Given the description of an element on the screen output the (x, y) to click on. 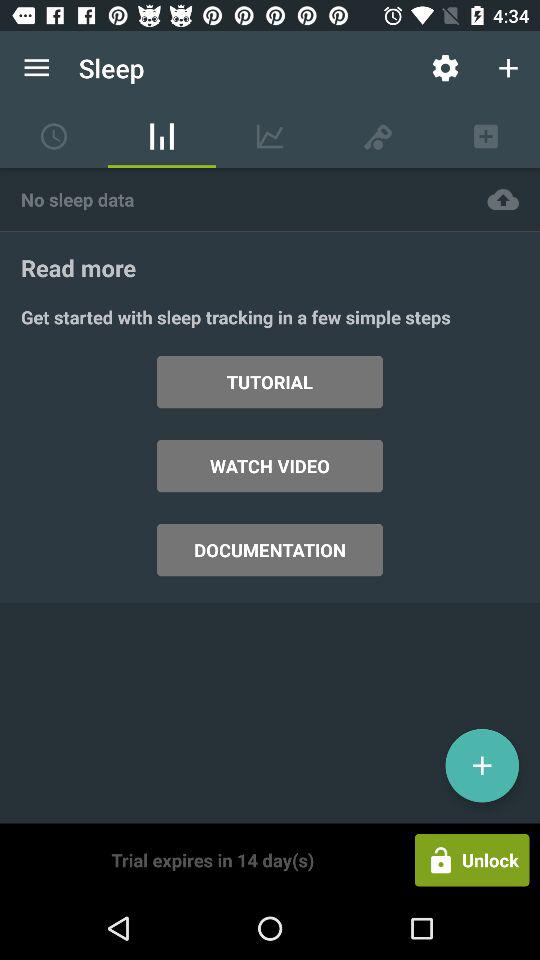
choose item below the get started with item (482, 765)
